Given the description of an element on the screen output the (x, y) to click on. 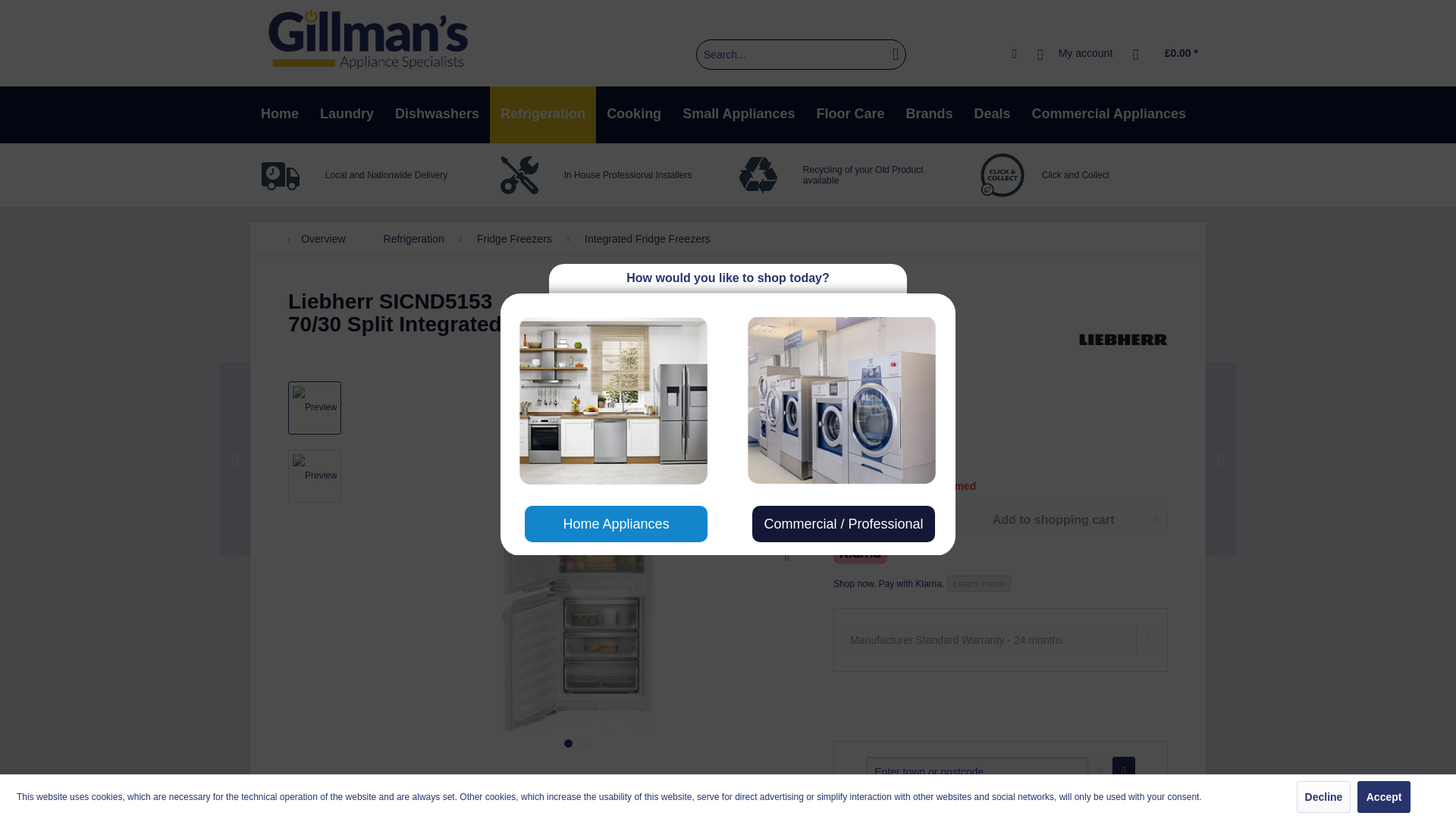
Refrigeration (542, 114)
Small Appliances (738, 114)
Brands (929, 114)
Refrigeration (542, 114)
Commercial Appliances (1109, 114)
My account (1075, 54)
Shopping cart (1165, 54)
Laundry (346, 114)
Home (279, 114)
Laundry (346, 114)
Refrigeration (542, 114)
Laundry (346, 114)
Floor Care (850, 114)
